Given the description of an element on the screen output the (x, y) to click on. 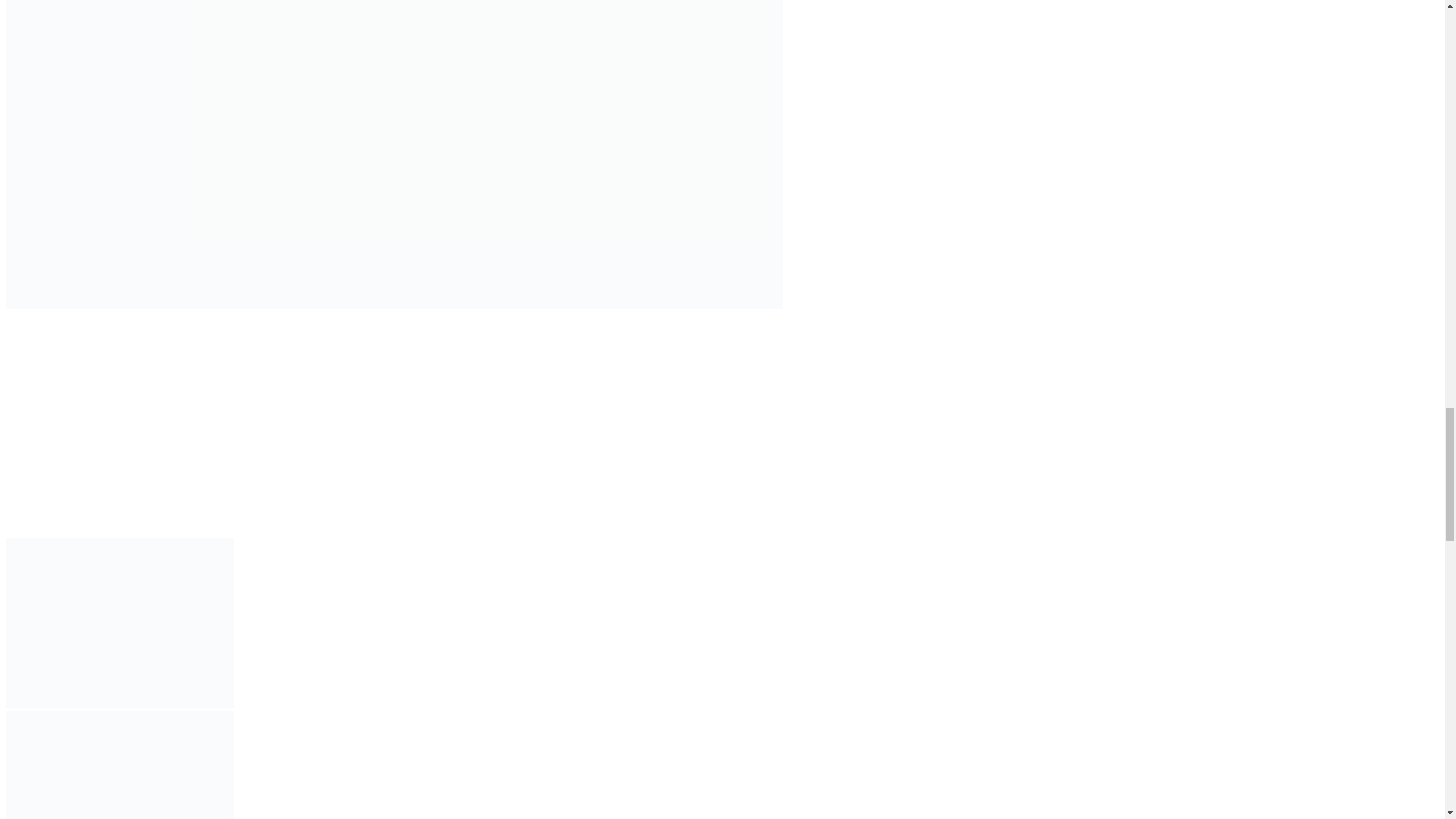
business (40, 530)
City Lights (507, 501)
